Given the description of an element on the screen output the (x, y) to click on. 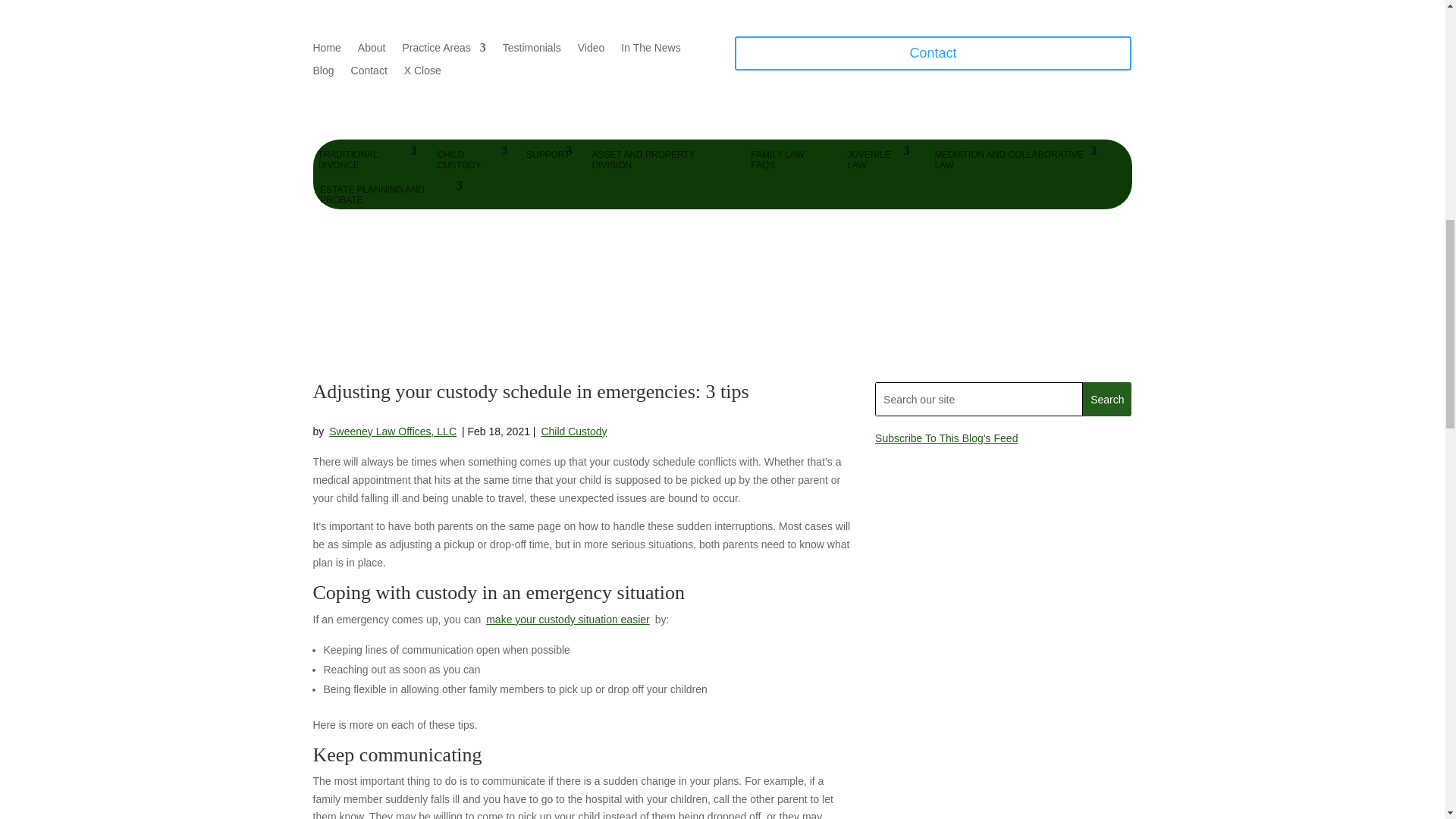
In The News (650, 50)
Blog (323, 73)
Testimonials (531, 50)
Video (591, 50)
Search (1107, 399)
Practice Areas (442, 50)
Search (1107, 399)
Home (326, 50)
Contact (368, 73)
About (371, 50)
Posts by Sweeney Law Offices, LLC (393, 431)
